Given the description of an element on the screen output the (x, y) to click on. 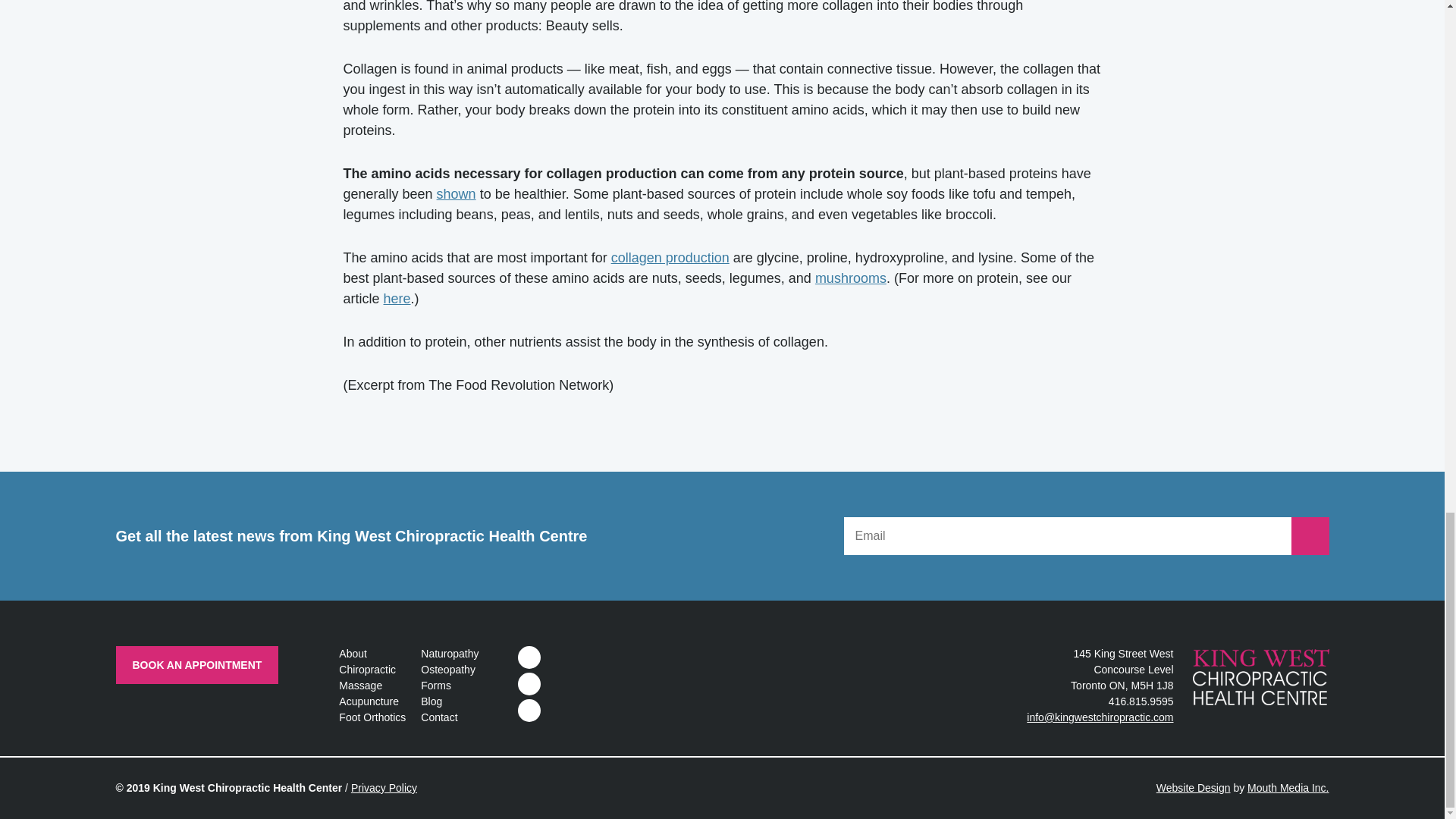
collagen production (670, 257)
shown (456, 193)
here (397, 298)
mushrooms (850, 278)
